Given the description of an element on the screen output the (x, y) to click on. 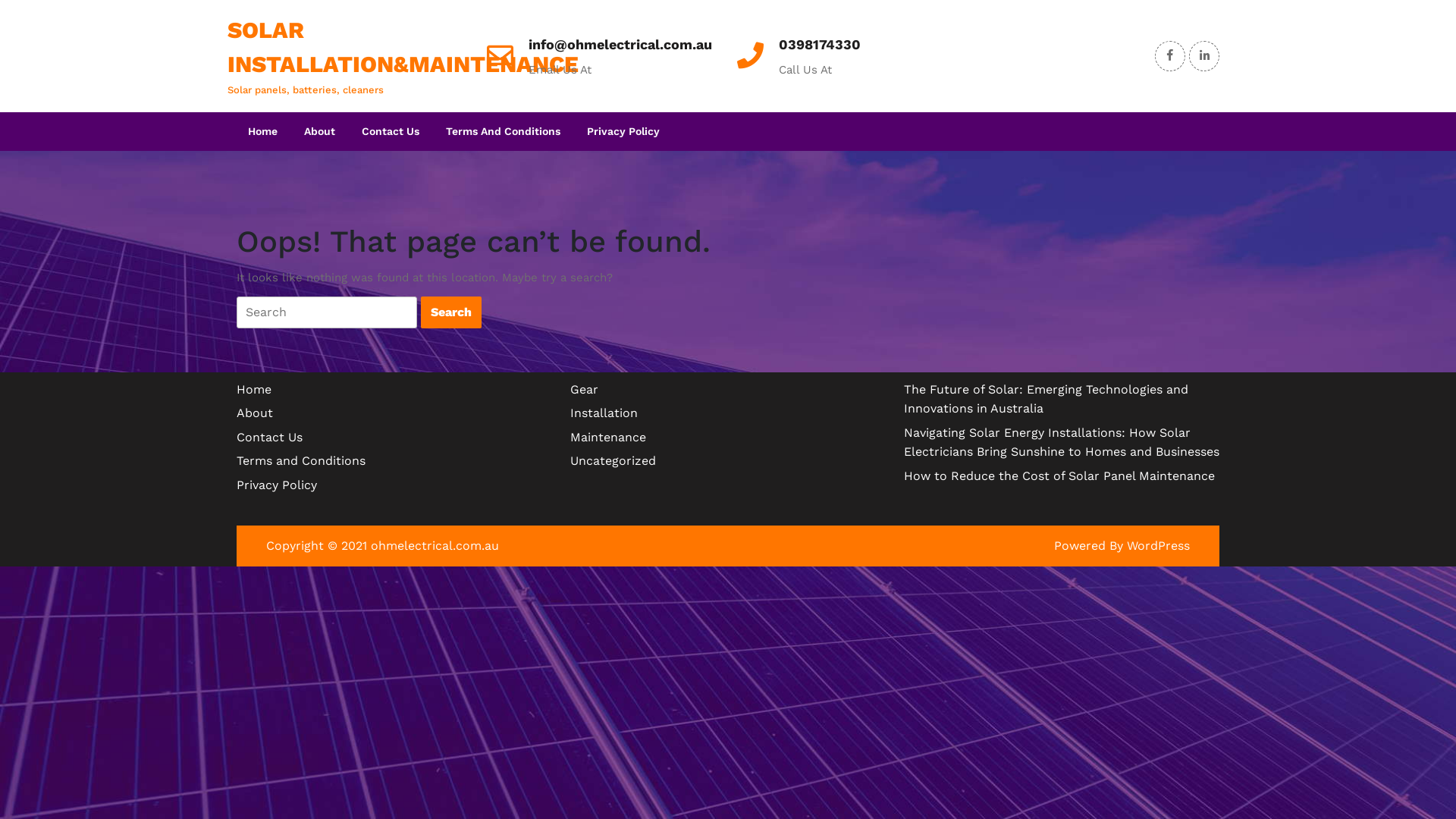
Home Element type: text (262, 131)
info@ohmelectrical.com.au
info@ohmelectrical.com.au Element type: text (620, 44)
Facebook Element type: text (1169, 54)
Home Element type: text (253, 389)
Terms And Conditions Element type: text (502, 131)
Linkedin Element type: text (1204, 54)
Installation Element type: text (603, 412)
SOLAR INSTALLATION&MAINTENANCE Element type: text (402, 46)
Privacy Policy Element type: text (623, 131)
Contact Us Element type: text (390, 131)
Gear Element type: text (584, 389)
About Element type: text (319, 131)
0398174330
0398174330 Element type: text (819, 44)
Terms and Conditions Element type: text (300, 460)
Contact Us Element type: text (269, 436)
About Element type: text (254, 412)
Maintenance Element type: text (608, 436)
Privacy Policy Element type: text (276, 484)
Uncategorized Element type: text (612, 460)
How to Reduce the Cost of Solar Panel Maintenance Element type: text (1058, 475)
Search Element type: text (450, 312)
